Given the description of an element on the screen output the (x, y) to click on. 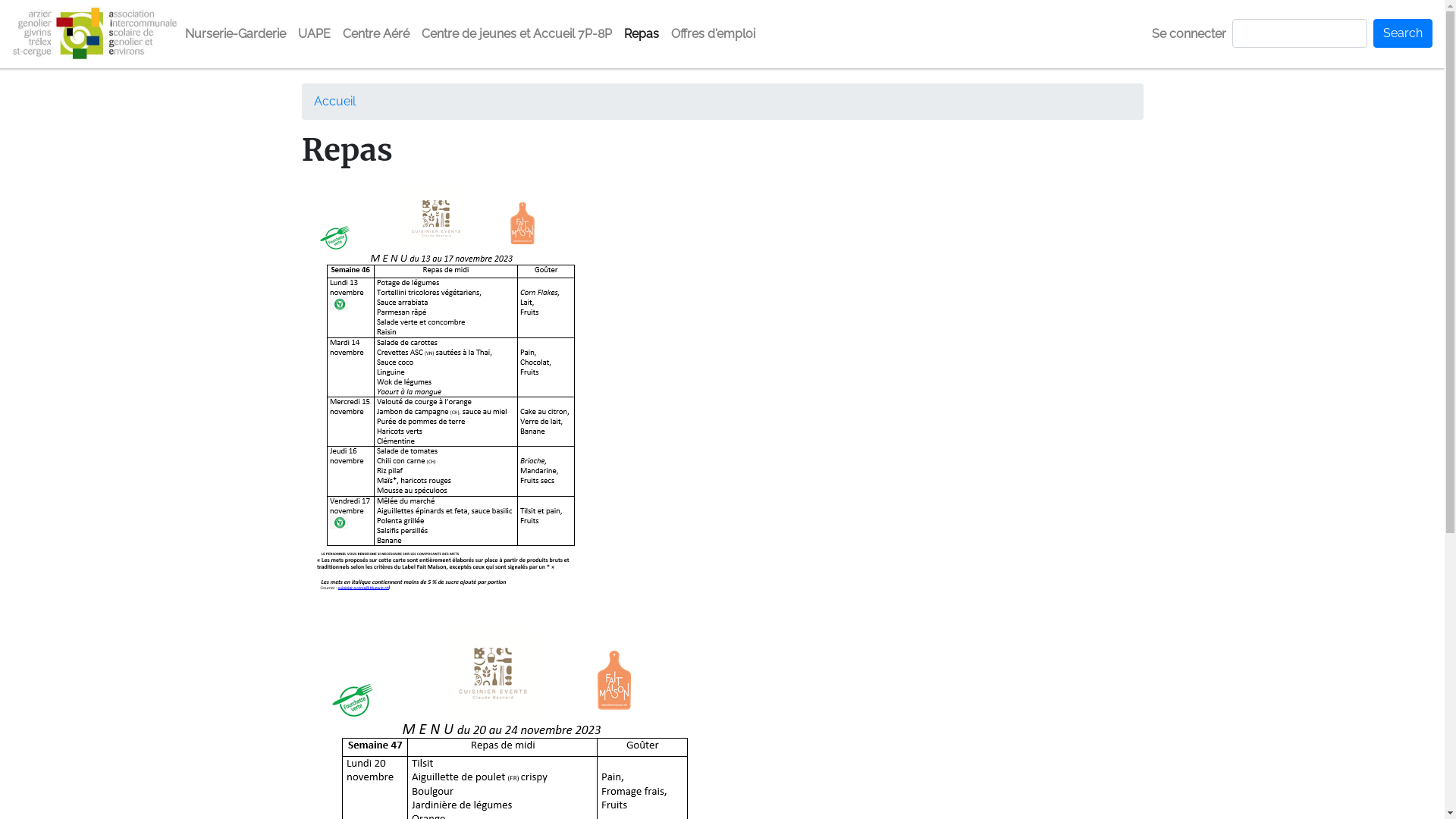
Repas Element type: text (641, 33)
Se connecter Element type: text (1188, 33)
UAPE Element type: text (313, 33)
Search Element type: text (1402, 32)
Accueil Element type: text (334, 101)
Nurserie-Garderie Element type: text (234, 33)
Aller au contenu principal Element type: text (0, 0)
Offres d'emploi Element type: text (713, 33)
Accueil Element type: hover (95, 34)
Centre de jeunes et Accueil 7P-8P Element type: text (516, 33)
